Given the description of an element on the screen output the (x, y) to click on. 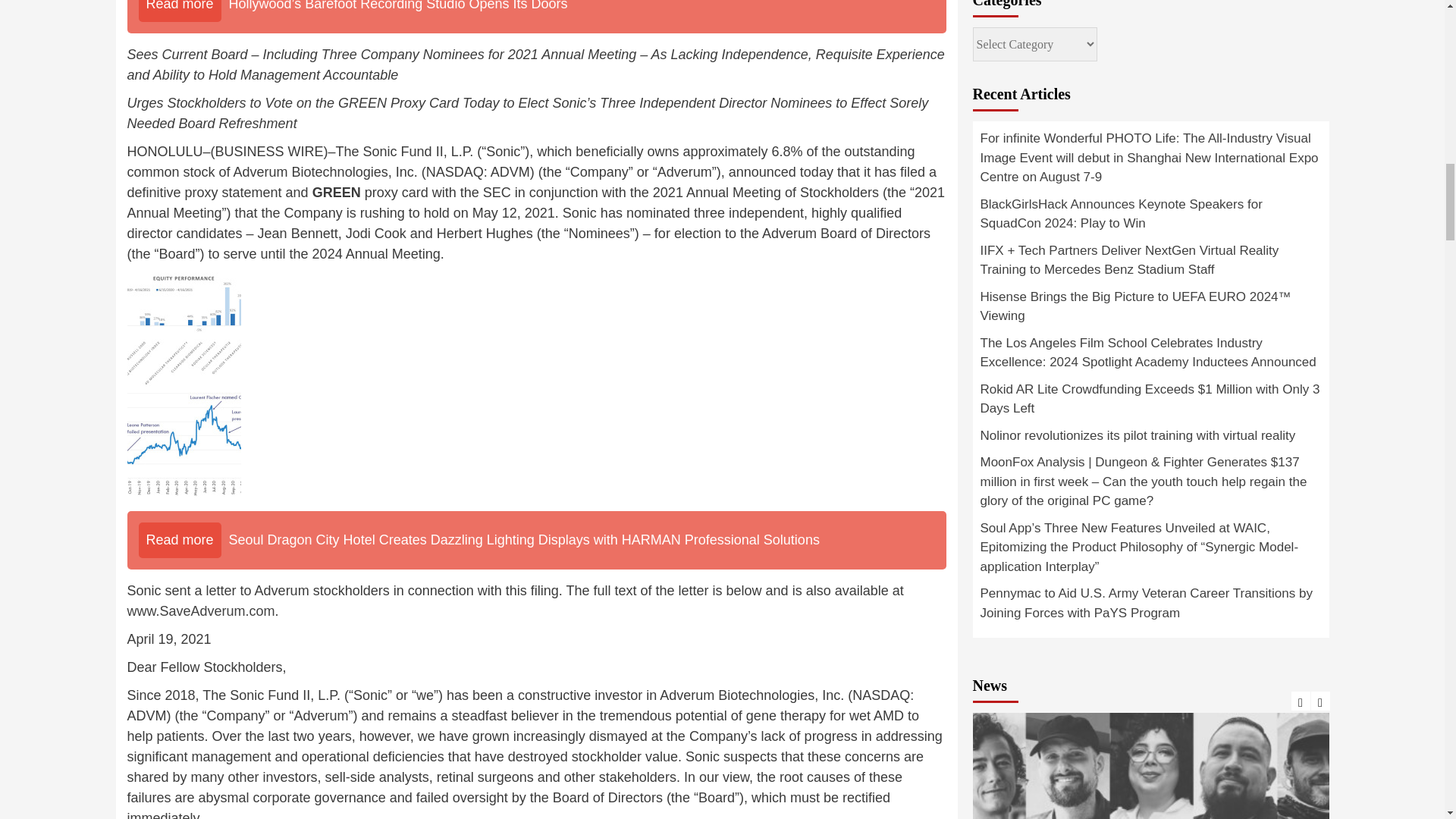
www.SaveAdverum.com (201, 611)
